Given the description of an element on the screen output the (x, y) to click on. 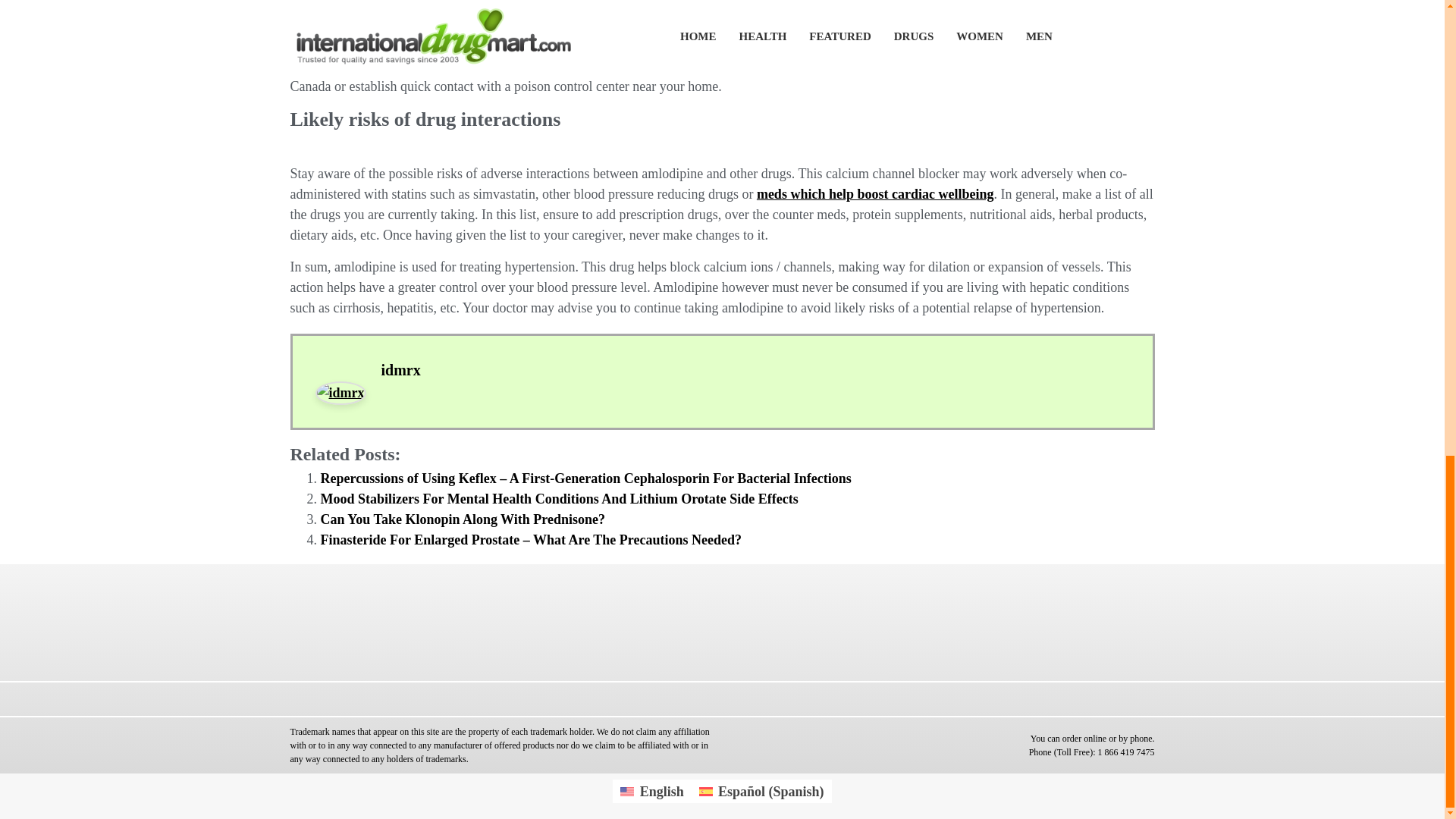
Can You Take Klonopin Along With Prednisone? (462, 519)
meds which help boost cardiac wellbeing (875, 193)
idmrx (400, 369)
Can You Take Klonopin Along With Prednisone? (462, 519)
food and drug administration (1052, 45)
